Given the description of an element on the screen output the (x, y) to click on. 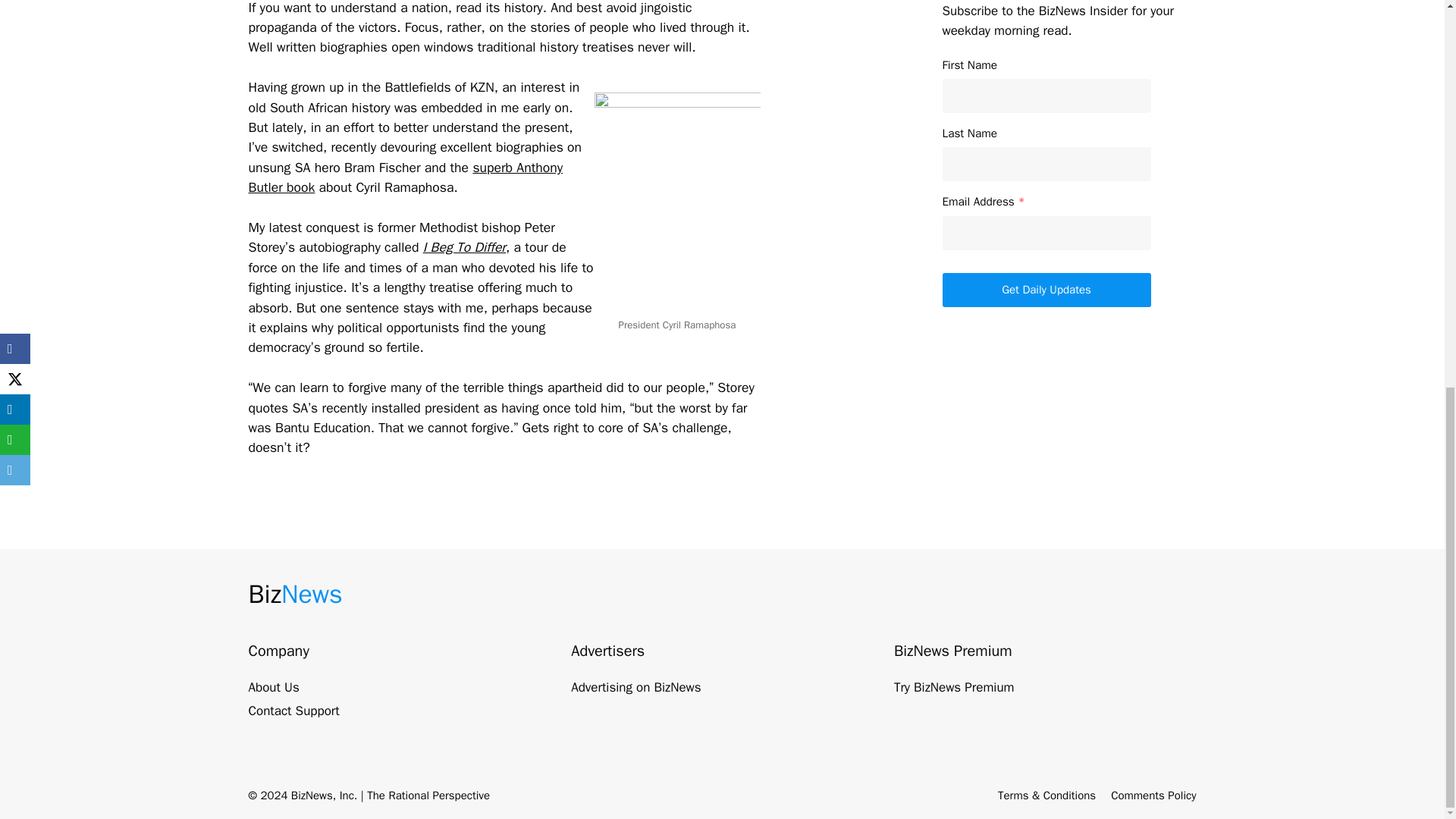
Get Daily Updates (1046, 289)
I Beg To Differ (464, 247)
superb Anthony Butler book (405, 176)
BizNews (295, 594)
